Given the description of an element on the screen output the (x, y) to click on. 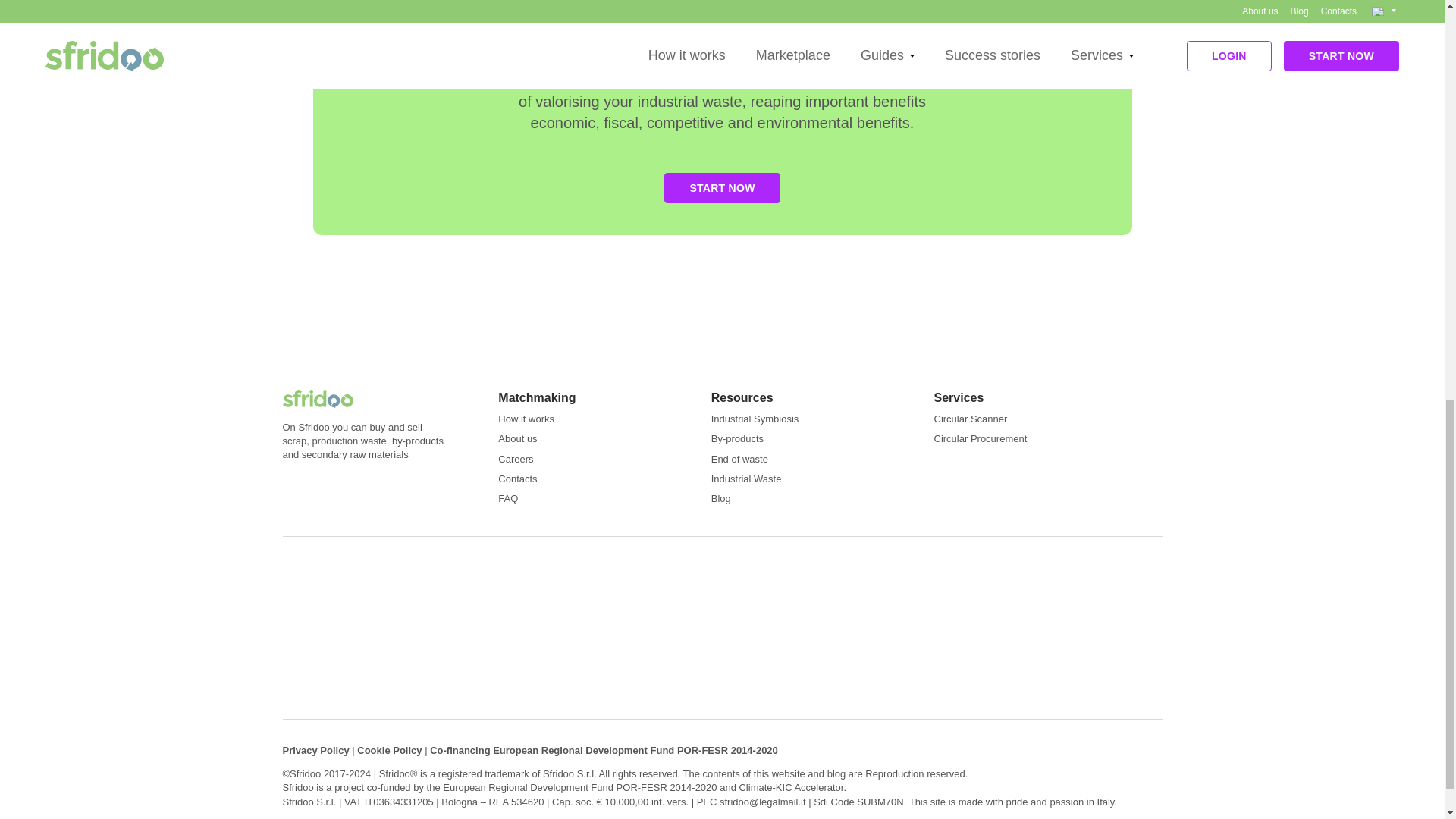
Matchmaking (536, 397)
How it works (525, 419)
By-products (736, 438)
Resources (742, 397)
Industrial Symbiosis (755, 419)
Careers (514, 459)
FAQ (507, 498)
About us (517, 438)
START NOW (720, 187)
Contacts (517, 478)
